Given the description of an element on the screen output the (x, y) to click on. 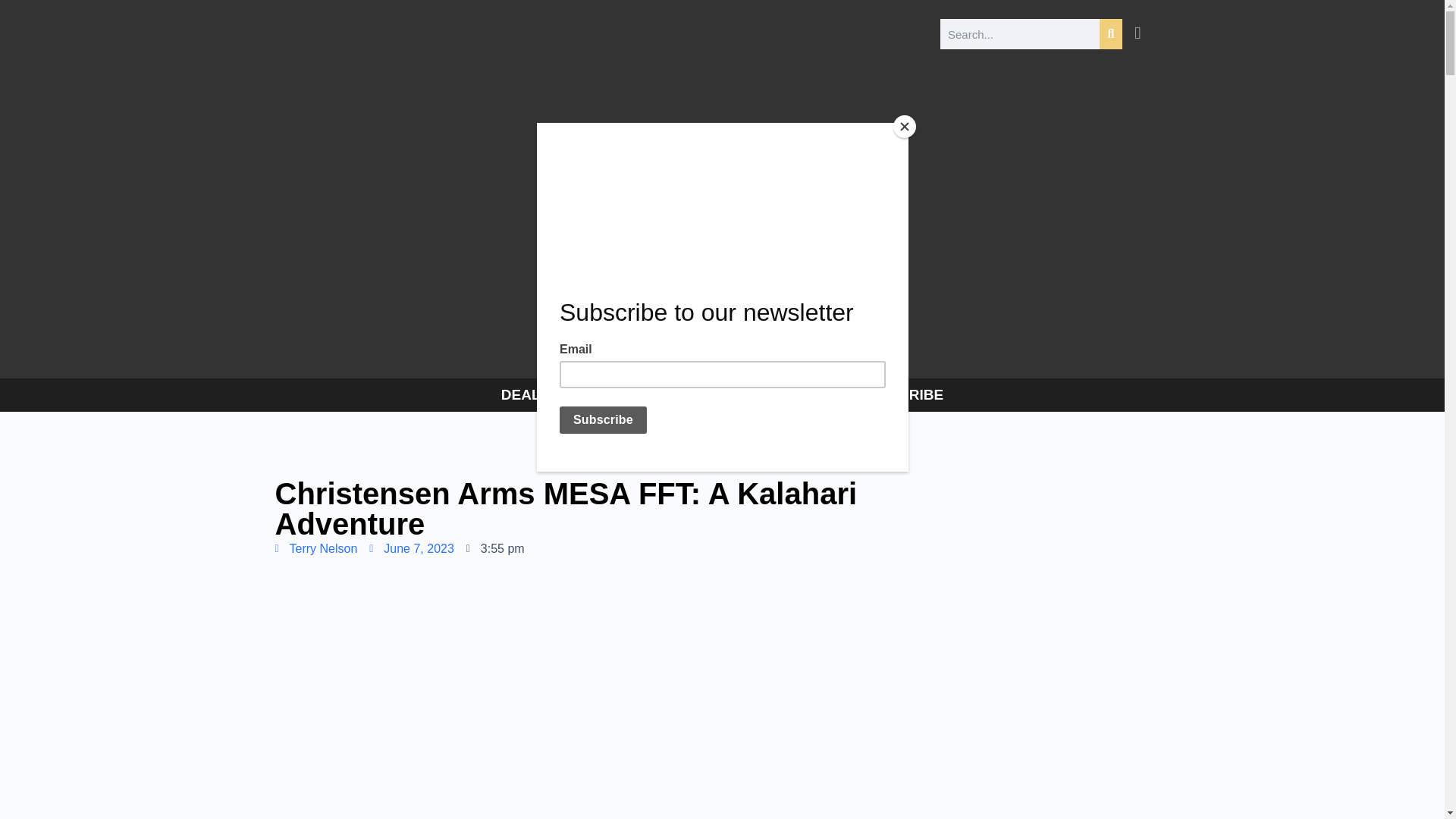
Skip to content (15, 7)
SUBSCRIBE (900, 394)
ARCHIVES (790, 394)
June 7, 2023 (411, 548)
Terry Nelson (315, 548)
ABOUT US (685, 394)
DEALER FINDER (559, 394)
